Given the description of an element on the screen output the (x, y) to click on. 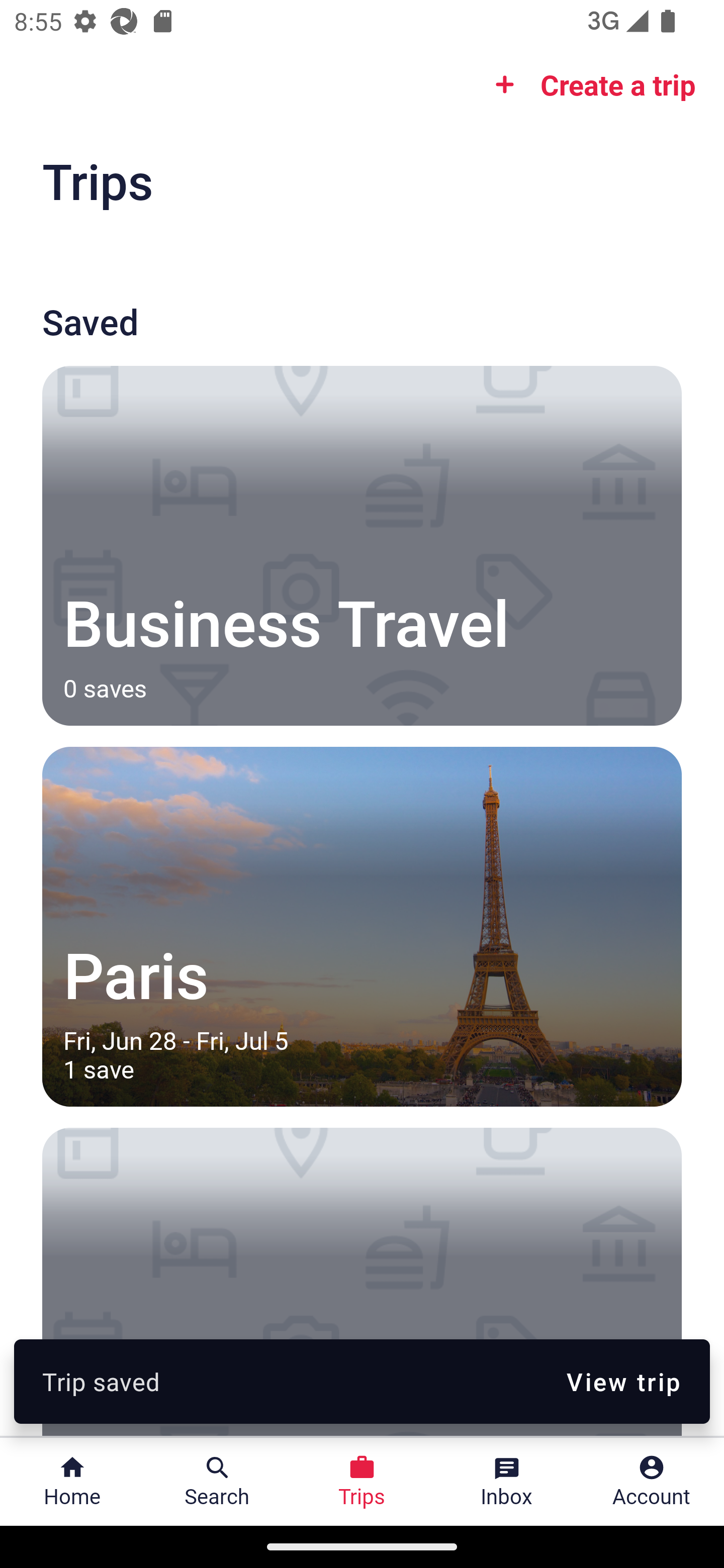
Create a trip Create a trip Button (589, 84)
test. 0 saves.  Button test 0 saves (361, 1281)
View trip (623, 1381)
Home Home Button (72, 1481)
Search Search Button (216, 1481)
Inbox Inbox Button (506, 1481)
Account Profile. Button (651, 1481)
